Given the description of an element on the screen output the (x, y) to click on. 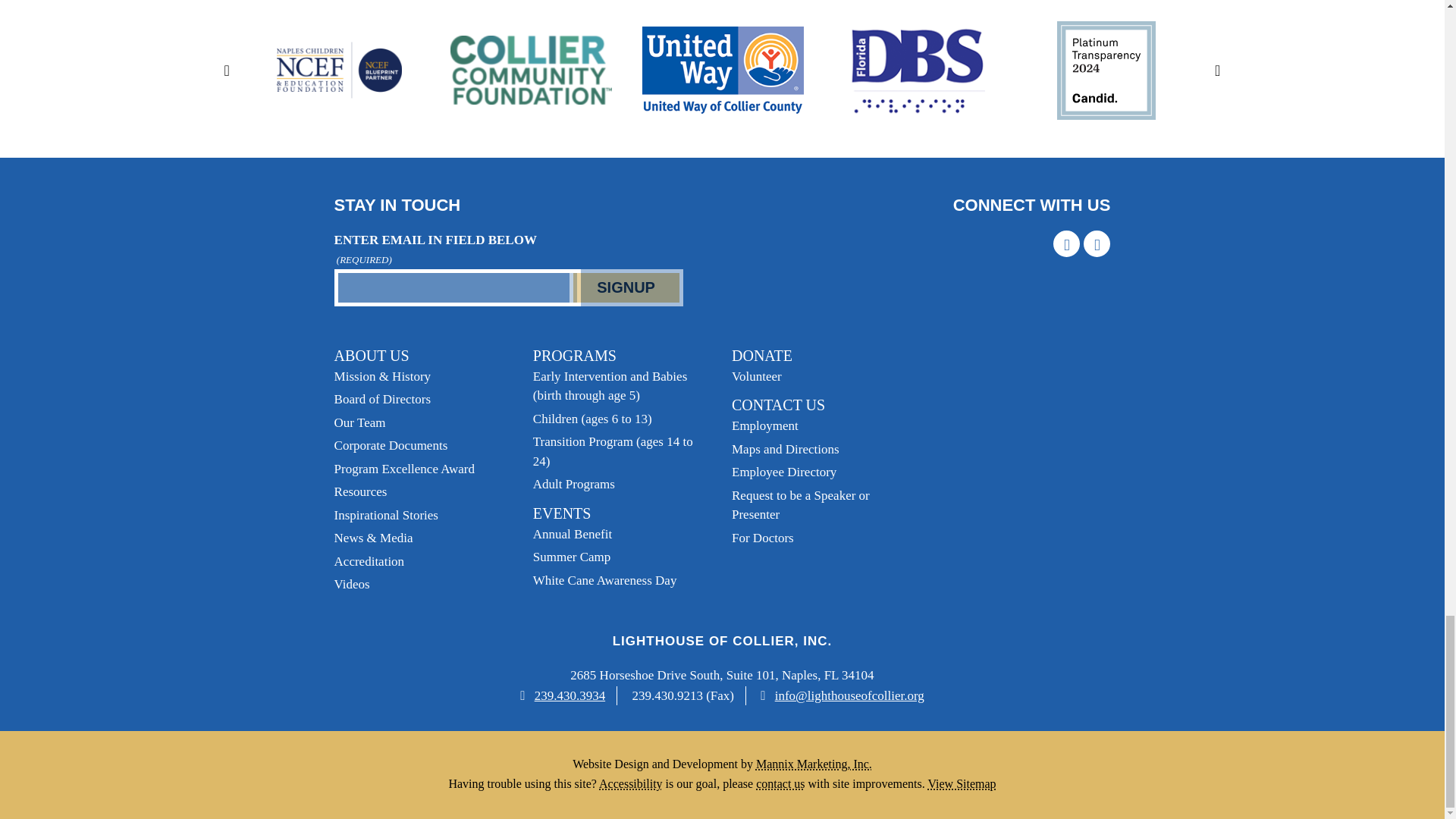
SIGNUP (625, 287)
